Given the description of an element on the screen output the (x, y) to click on. 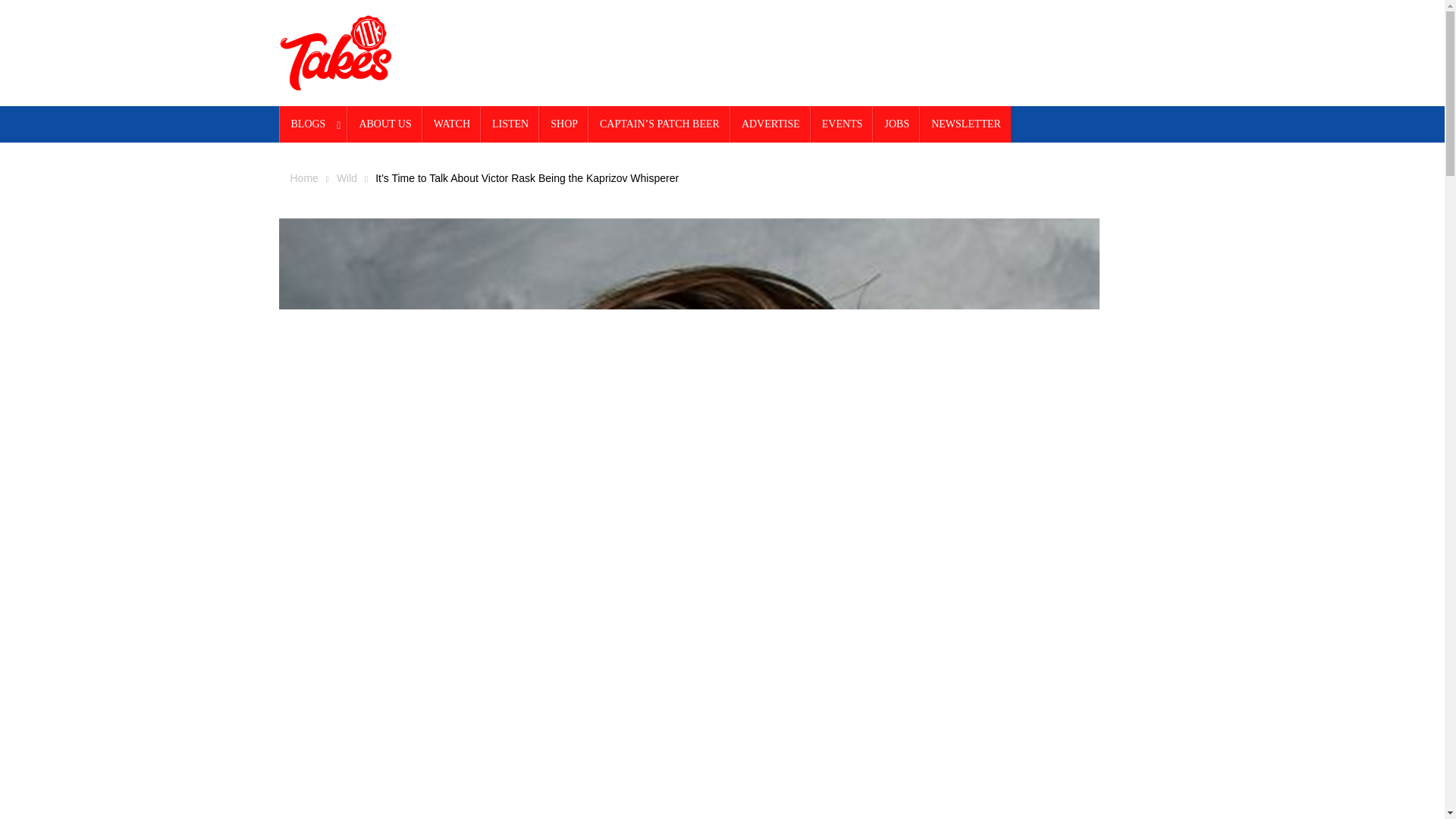
ADVERTISE (770, 124)
Home (303, 177)
LISTEN (510, 124)
JOBS (896, 124)
Wild (346, 177)
EVENTS (842, 124)
WATCH (451, 124)
SHOP (563, 124)
BLOGS (314, 124)
ABOUT US (384, 124)
NEWSLETTER (965, 124)
